Given the description of an element on the screen output the (x, y) to click on. 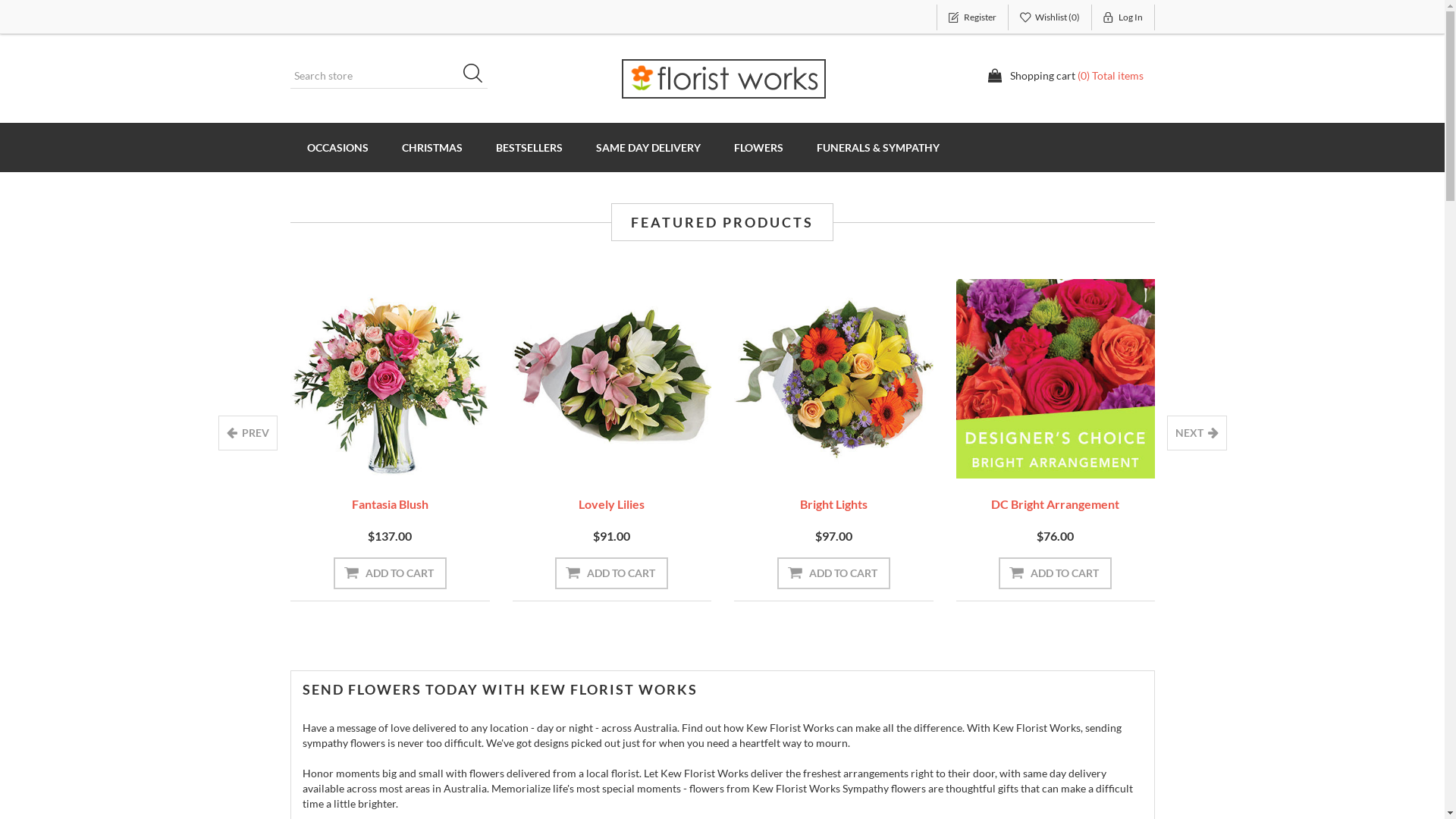
Add to cart Element type: text (389, 572)
SAME DAY DELIVERY Element type: text (648, 147)
Add to Wishlist Element type: text (1253, 457)
Log In Element type: text (1123, 17)
FUNERALS & SYMPATHY Element type: text (877, 147)
Add to cart Element type: text (167, 572)
Fantasia Blush Element type: text (389, 502)
Show details for Fantasia Blush Element type: hover (389, 378)
Add to Compare List Element type: text (191, 457)
Add to Compare List Element type: text (1301, 457)
Add to Wishlist Element type: text (1031, 457)
CHRISTMAS Element type: text (432, 147)
Add to Wishlist Element type: text (366, 457)
Add to Wishlist Element type: text (144, 457)
Add to Compare List Element type: text (414, 457)
DC Bright Arrangement Element type: text (1055, 502)
FLOWERS Element type: text (758, 147)
Bright Lights Element type: text (833, 502)
Show details for DC Bright arrangement Element type: hover (1054, 378)
Add to Wishlist Element type: text (809, 457)
Add to Compare List Element type: text (635, 457)
Add to cart Element type: text (611, 572)
Lovely Lilies Element type: text (611, 502)
Show details for Lovely Lilies Element type: hover (612, 378)
NEXT Element type: text (1196, 432)
Wishlist (0) Element type: text (1050, 17)
OCCASIONS Element type: text (336, 147)
Add to Wishlist Element type: text (587, 457)
BESTSELLERS Element type: text (529, 147)
Add to Compare List Element type: text (857, 457)
Add to Compare List Element type: text (1079, 457)
Shopping cart (0) Total items Element type: text (1065, 75)
Add to cart Element type: text (833, 572)
Show details for Bright Lights Element type: hover (833, 378)
Register Element type: text (971, 17)
Add to cart Element type: text (1276, 572)
PREV Element type: text (247, 432)
Add to cart Element type: text (1054, 572)
